Given the description of an element on the screen output the (x, y) to click on. 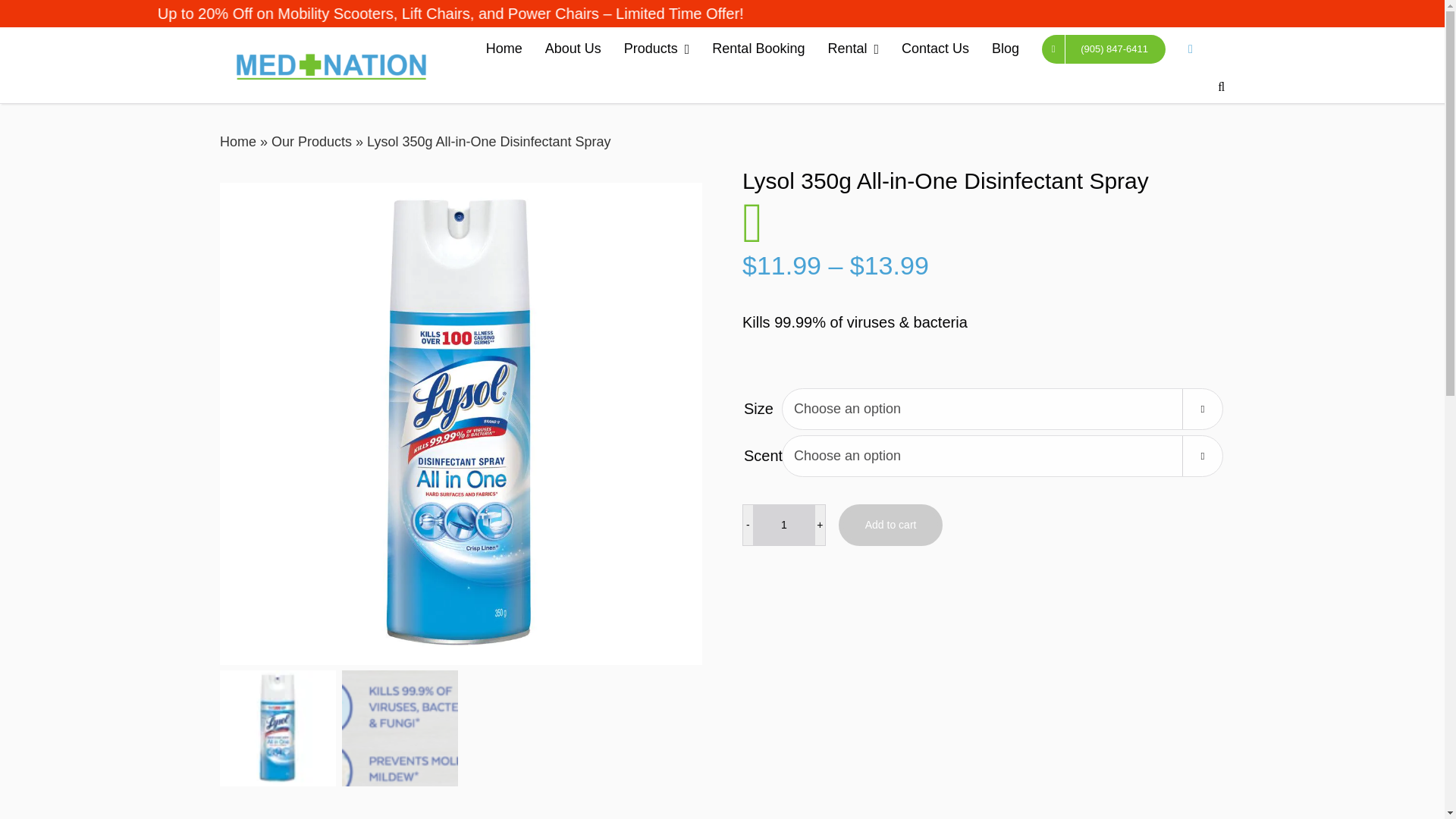
Products (657, 48)
About Us (572, 48)
1 (783, 525)
